Given the description of an element on the screen output the (x, y) to click on. 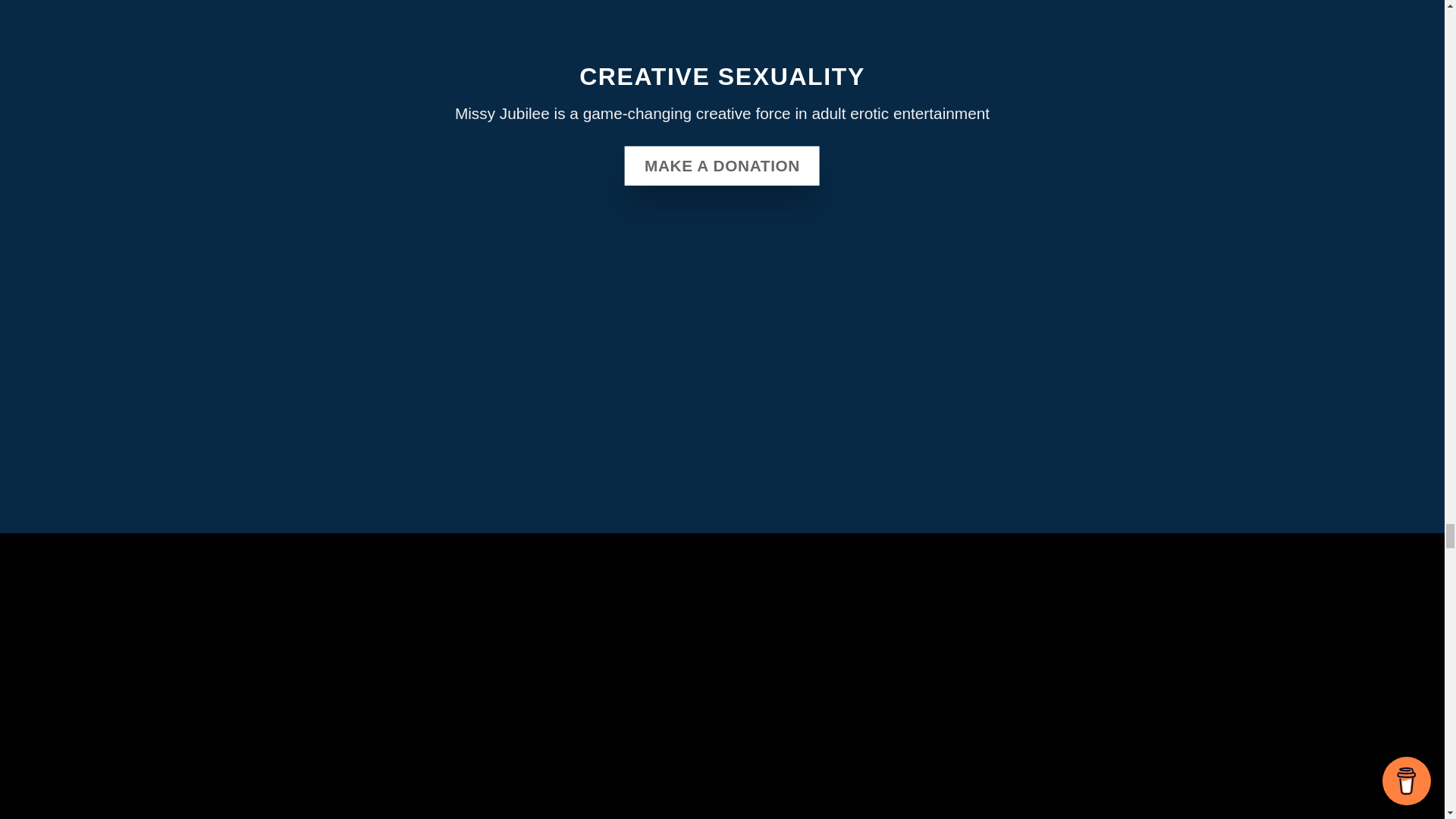
MAKE A DONATION (721, 165)
